Given the description of an element on the screen output the (x, y) to click on. 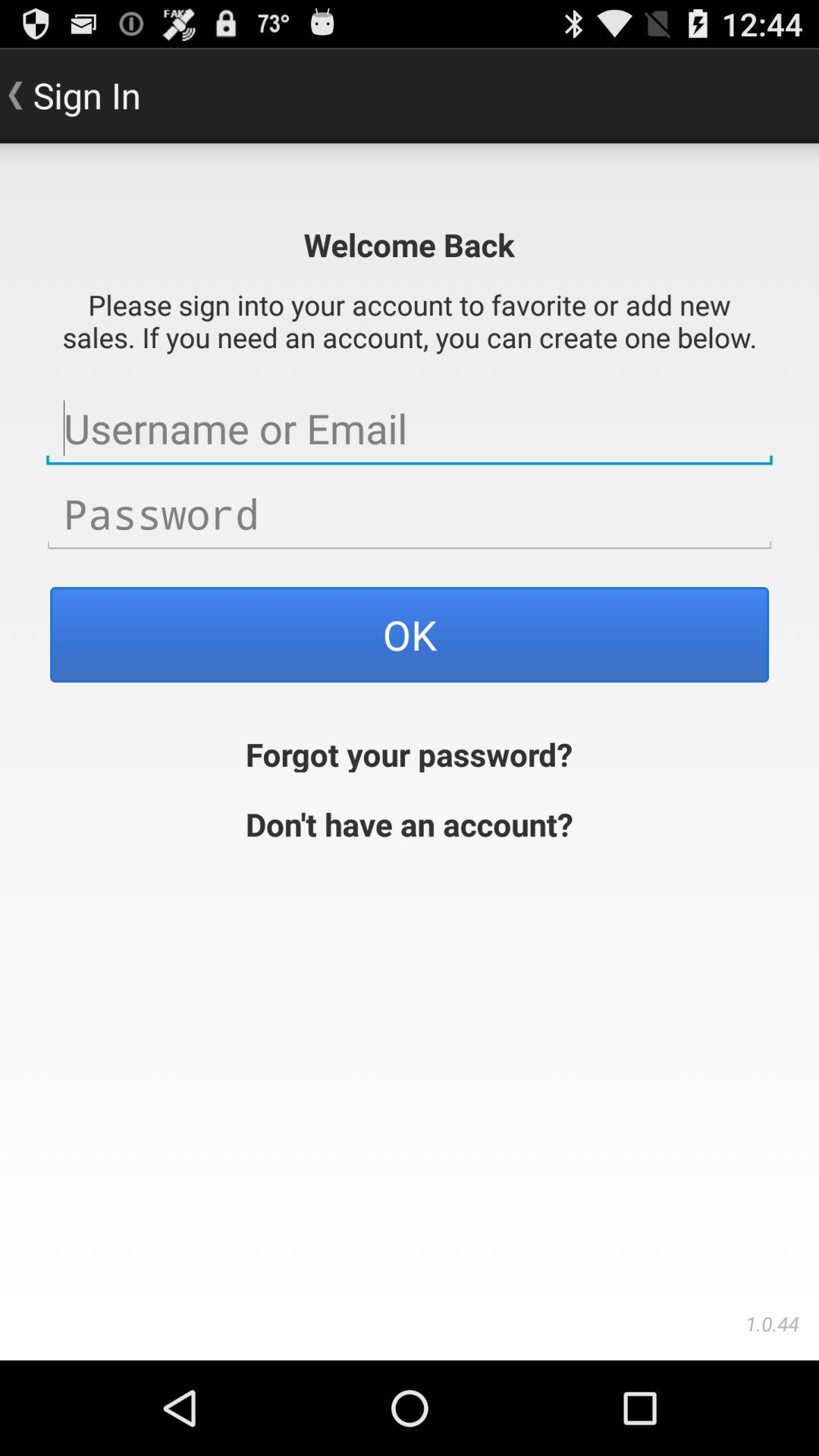
launch item below ok item (408, 752)
